Given the description of an element on the screen output the (x, y) to click on. 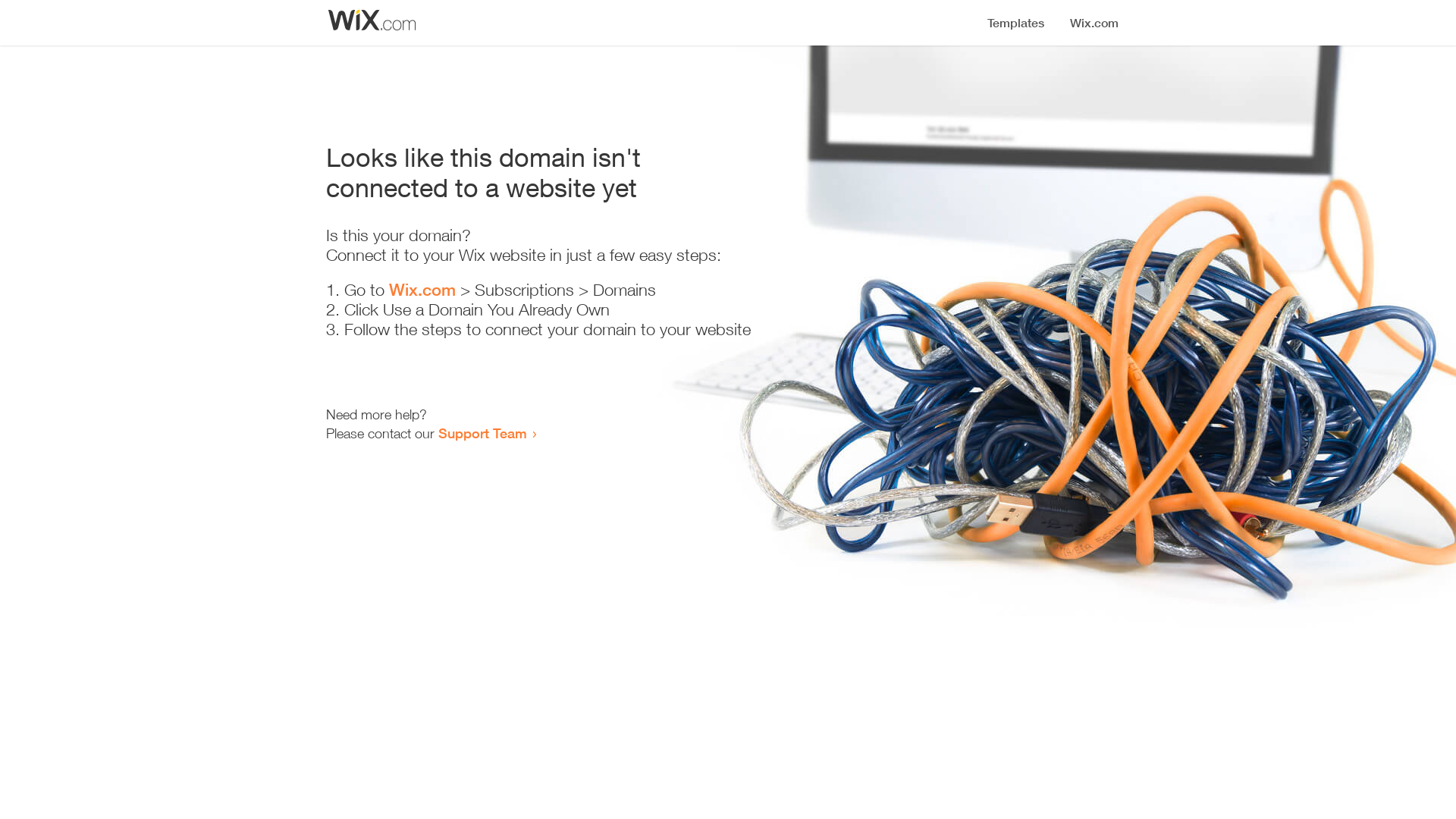
Wix.com Element type: text (422, 289)
Support Team Element type: text (482, 432)
